Given the description of an element on the screen output the (x, y) to click on. 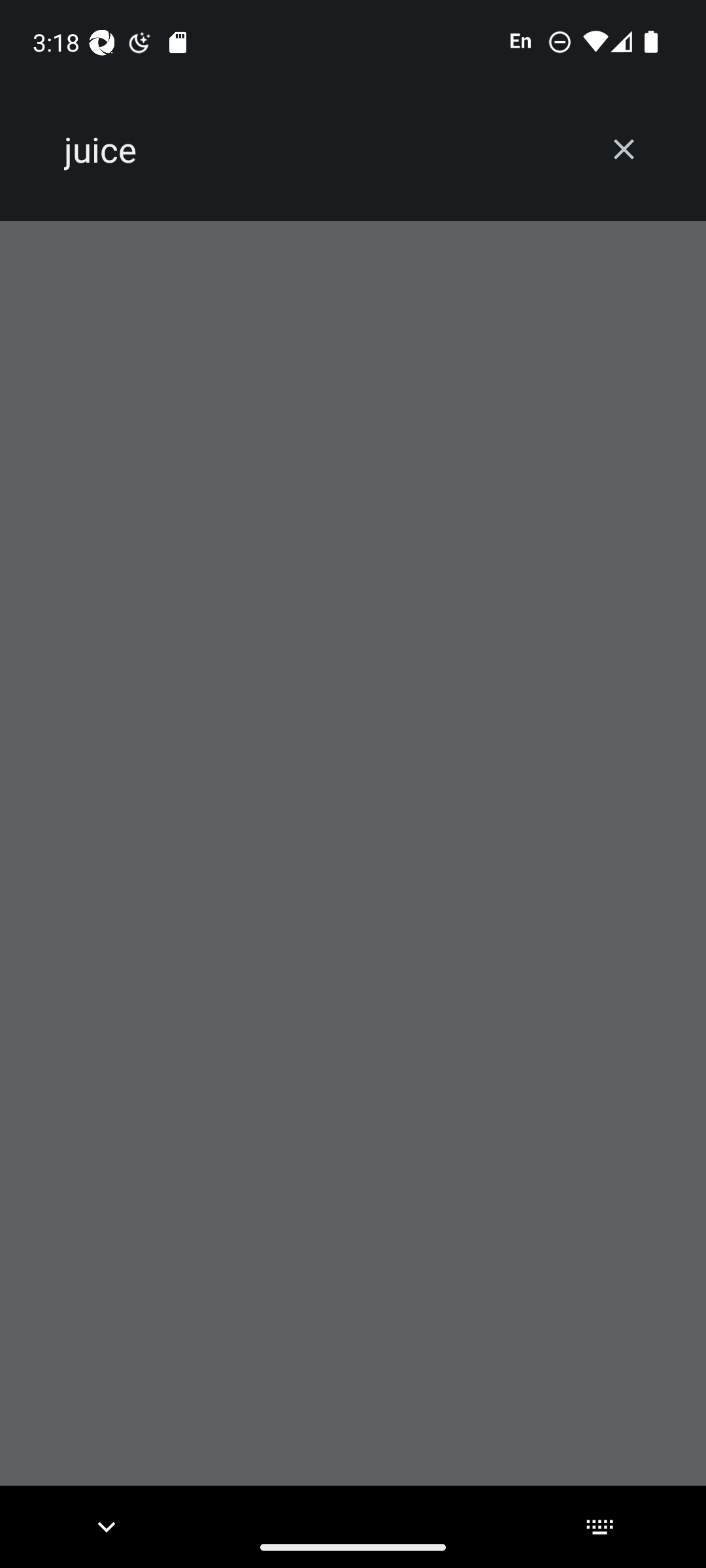
juice (321, 149)
Clear search box (623, 149)
